Given the description of an element on the screen output the (x, y) to click on. 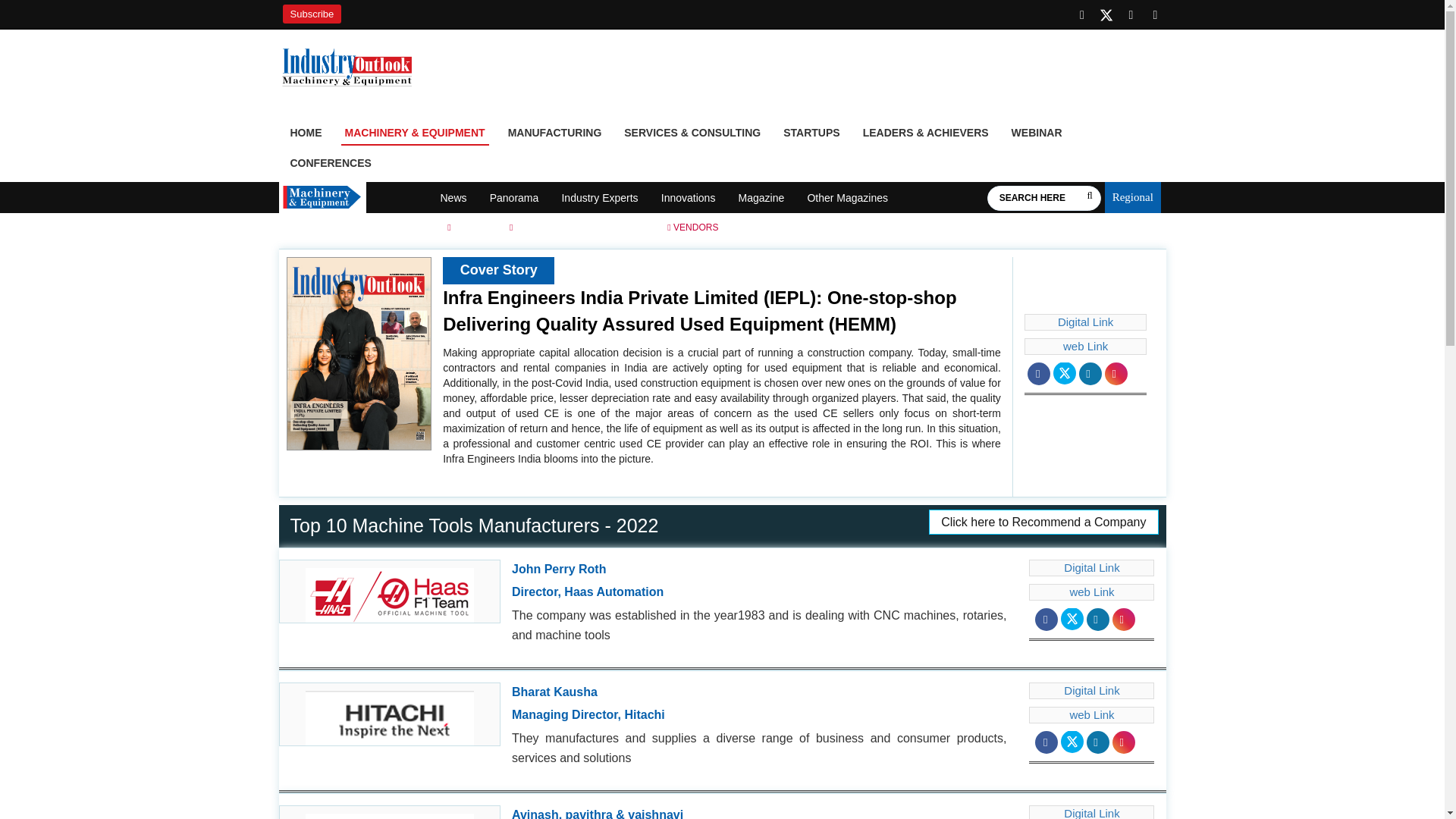
Subscribe (311, 13)
3rd party ad content (788, 73)
News (452, 198)
STARTUPS (810, 134)
MANUFACTURING (554, 134)
Industry Experts (598, 198)
Other Magazines (846, 198)
HOME (306, 134)
Infra Engineers India Private Limited (389, 812)
Haas Automation (389, 591)
WEBINAR (1036, 134)
HOME (306, 226)
Hitachi (389, 714)
Innovations (688, 198)
CONFERENCES (330, 164)
